Given the description of an element on the screen output the (x, y) to click on. 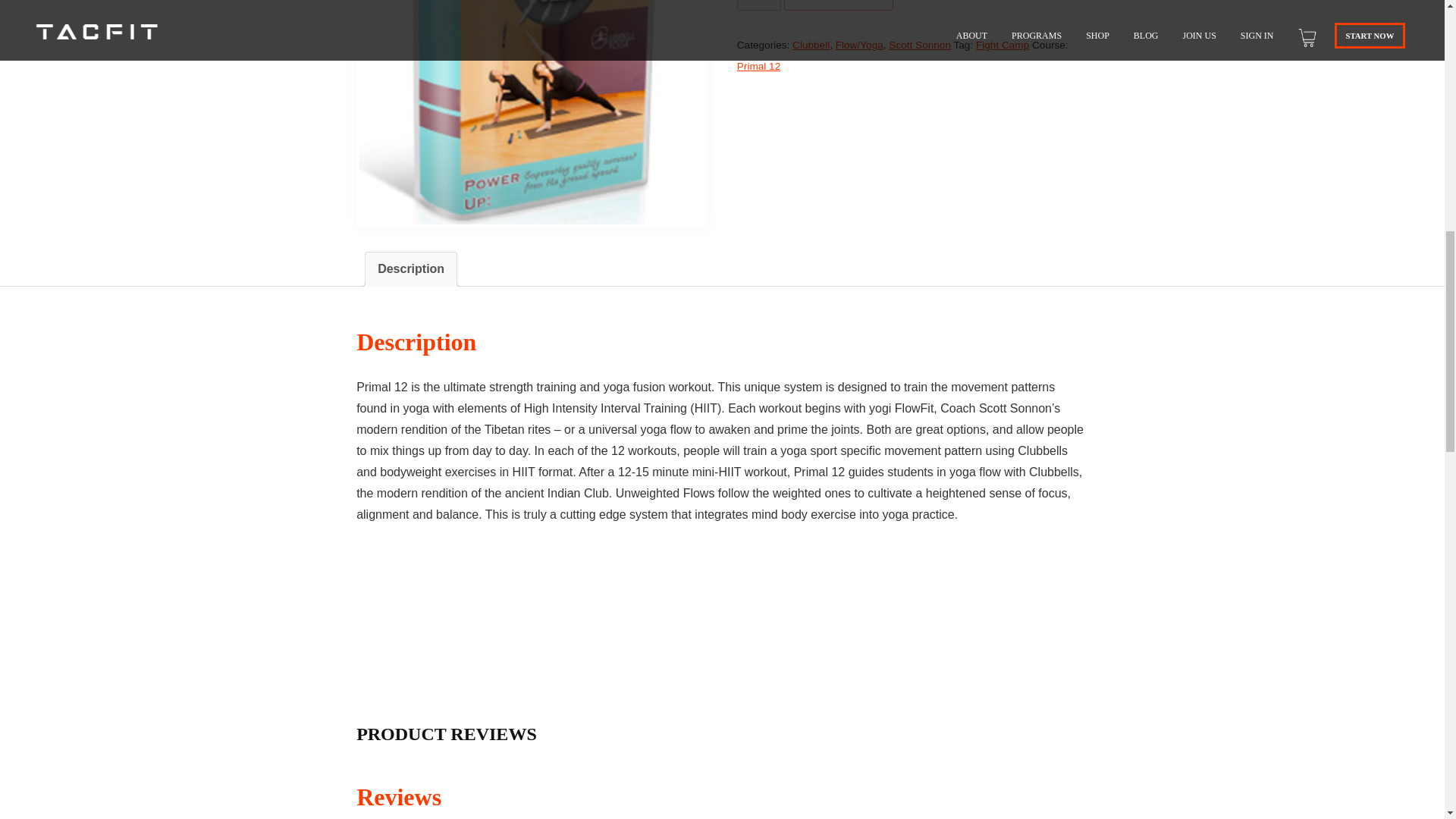
Fight Camp (1002, 44)
Primal 12 (758, 66)
ADD TO CART (838, 5)
Scott Sonnon (919, 44)
1 (758, 5)
Description (410, 268)
Clubbell (810, 44)
